Given the description of an element on the screen output the (x, y) to click on. 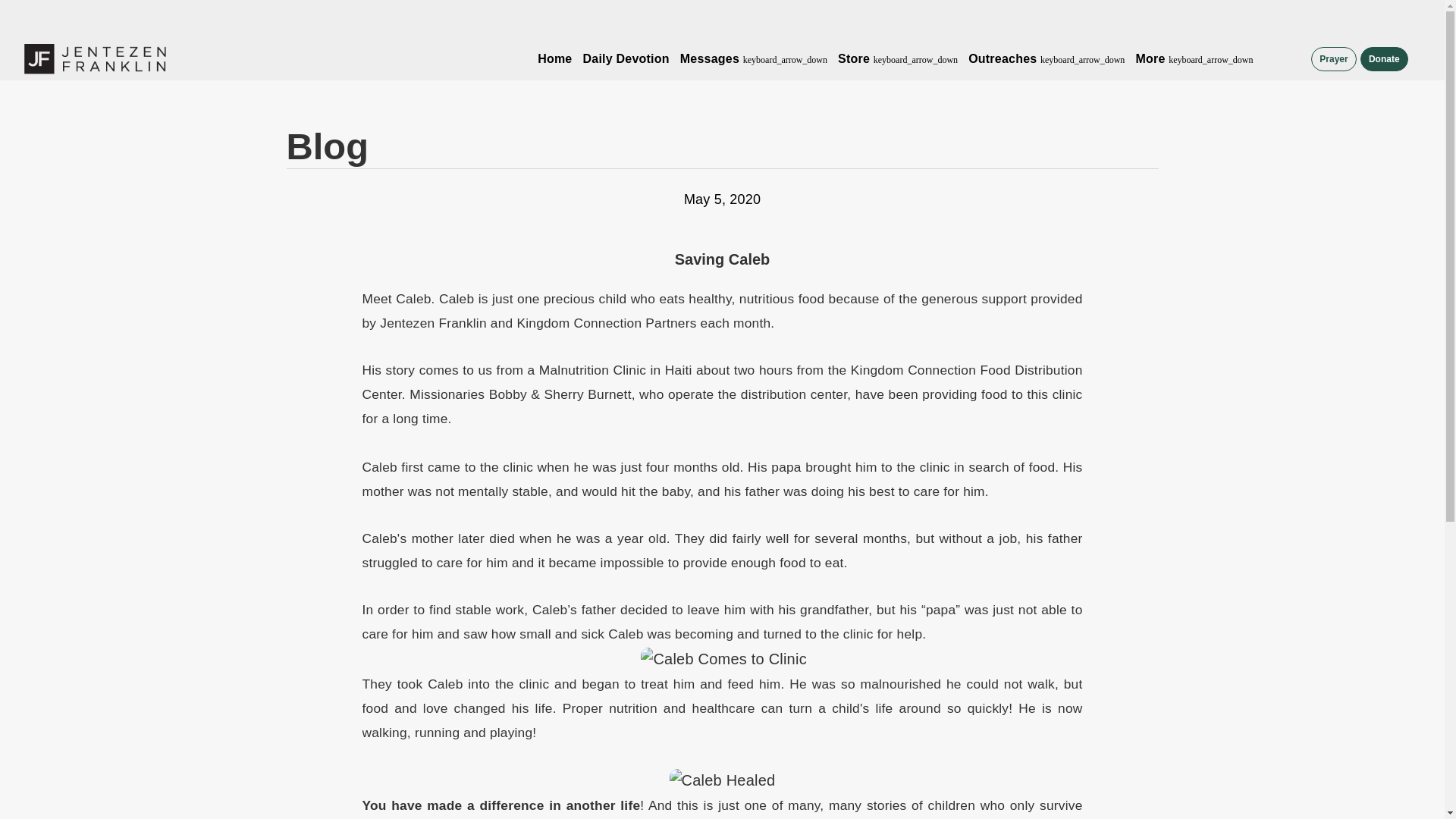
HERE (785, 18)
Daily Devotion (625, 59)
Home (554, 59)
Jentezen Franklin (94, 59)
Register To Vote In 2024 (705, 18)
